Given the description of an element on the screen output the (x, y) to click on. 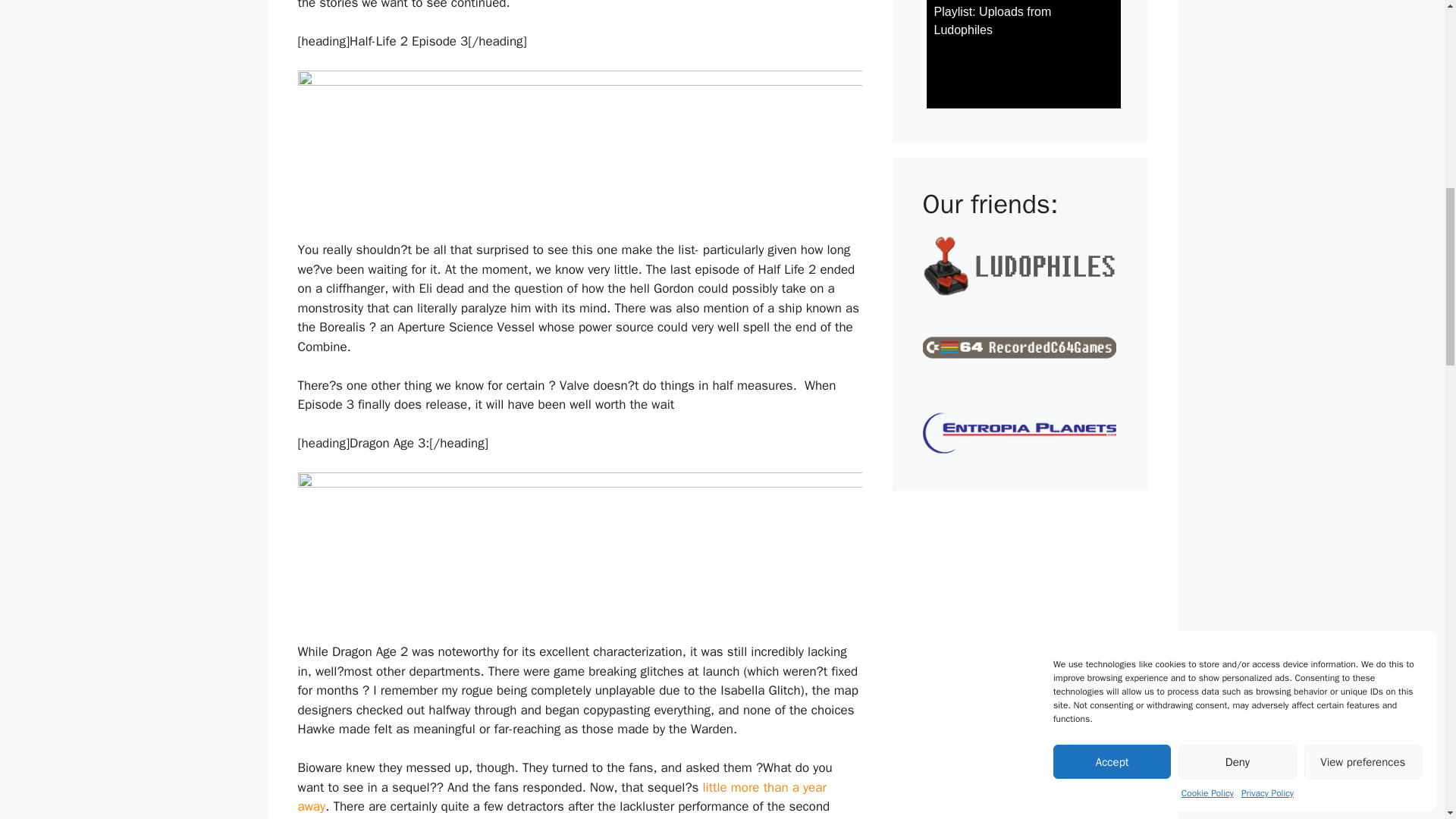
Playlist: Uploads from Ludophiles (1023, 54)
Scroll back to top (1406, 720)
